Given the description of an element on the screen output the (x, y) to click on. 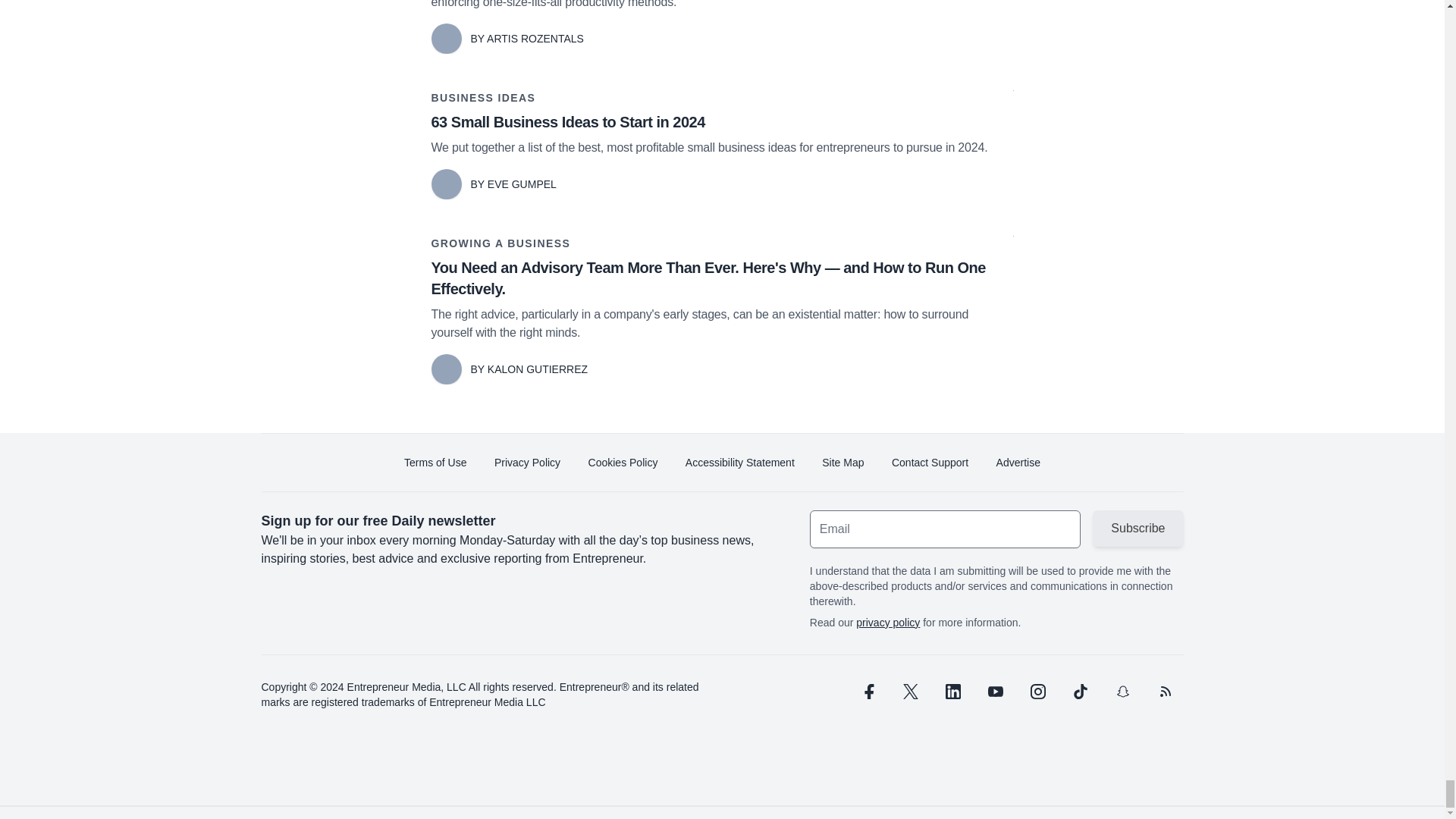
youtube (994, 691)
linkedin (952, 691)
facebook (866, 691)
twitter (909, 691)
instagram (1037, 691)
tiktok (1079, 691)
snapchat (1121, 691)
